Given the description of an element on the screen output the (x, y) to click on. 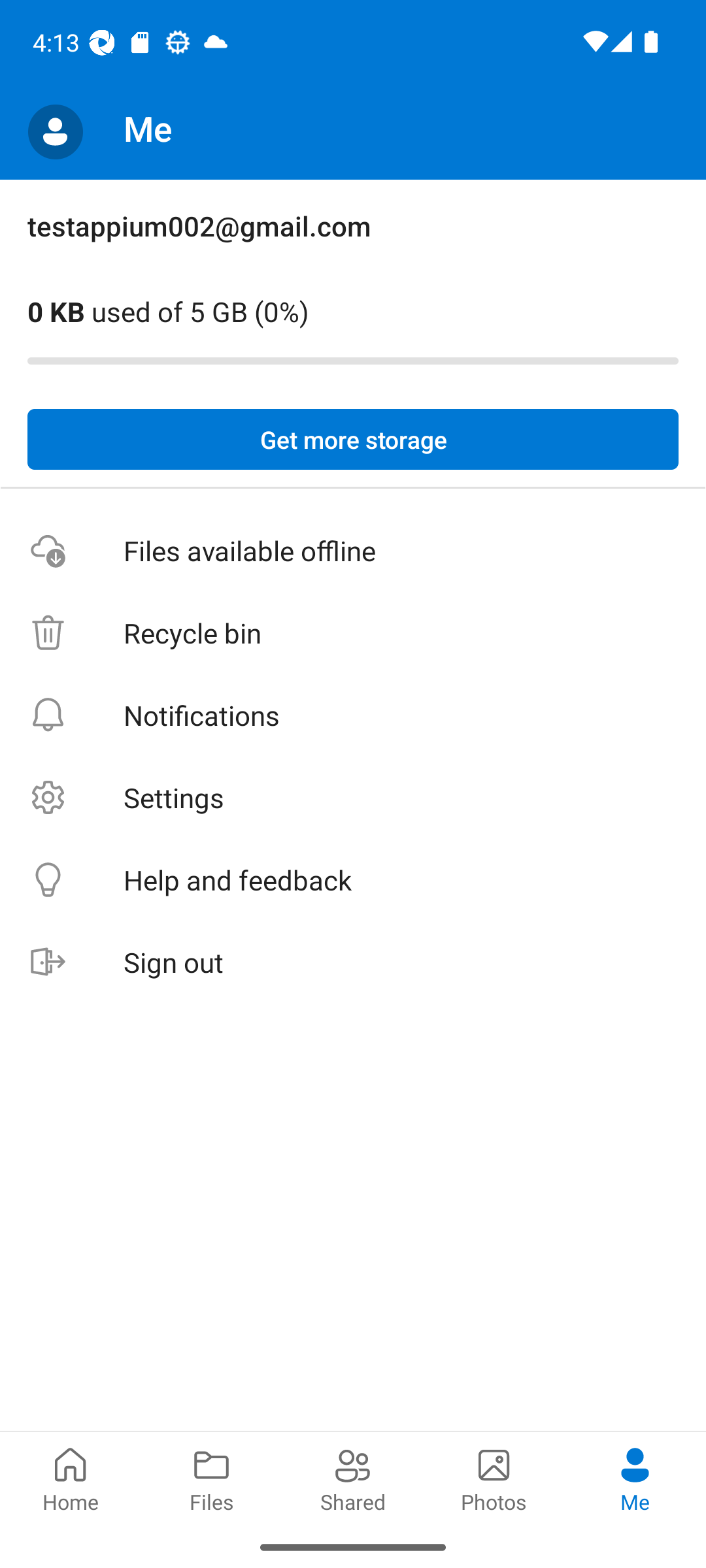
Account switcher (55, 131)
Get more storage (352, 439)
Files available offline (353, 550)
Recycle bin (353, 633)
Notifications (353, 714)
Settings (353, 796)
Help and feedback (353, 879)
Sign out (353, 962)
Home pivot Home (70, 1478)
Files pivot Files (211, 1478)
Shared pivot Shared (352, 1478)
Photos pivot Photos (493, 1478)
